Given the description of an element on the screen output the (x, y) to click on. 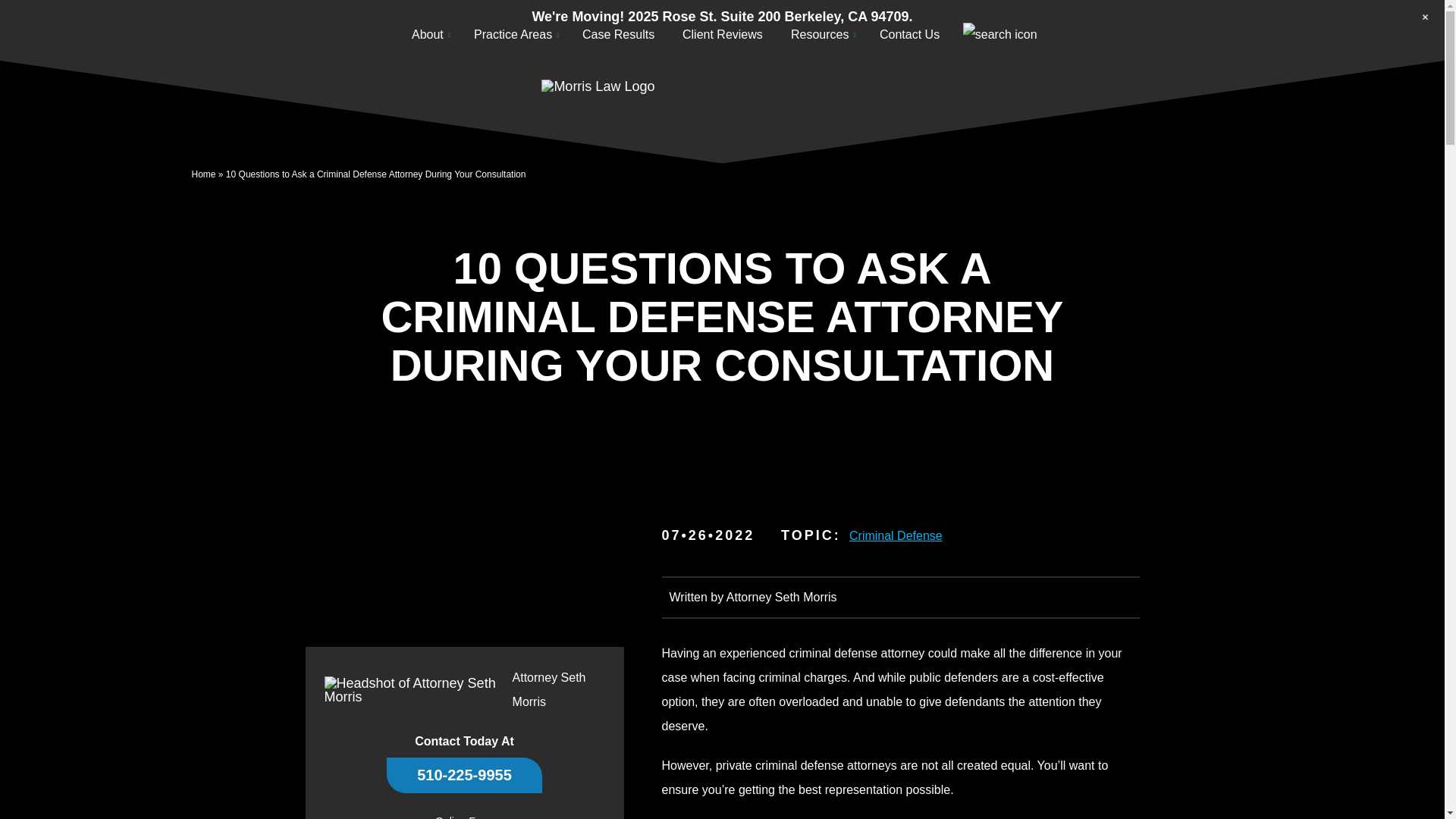
Criminal Defense (900, 534)
Case Results (618, 34)
Practice Areas (512, 34)
About (426, 34)
Contact Us (909, 34)
Client Reviews (721, 34)
Online Form (464, 817)
Home (202, 173)
510-225-9955 (464, 775)
Resources (819, 34)
